Given the description of an element on the screen output the (x, y) to click on. 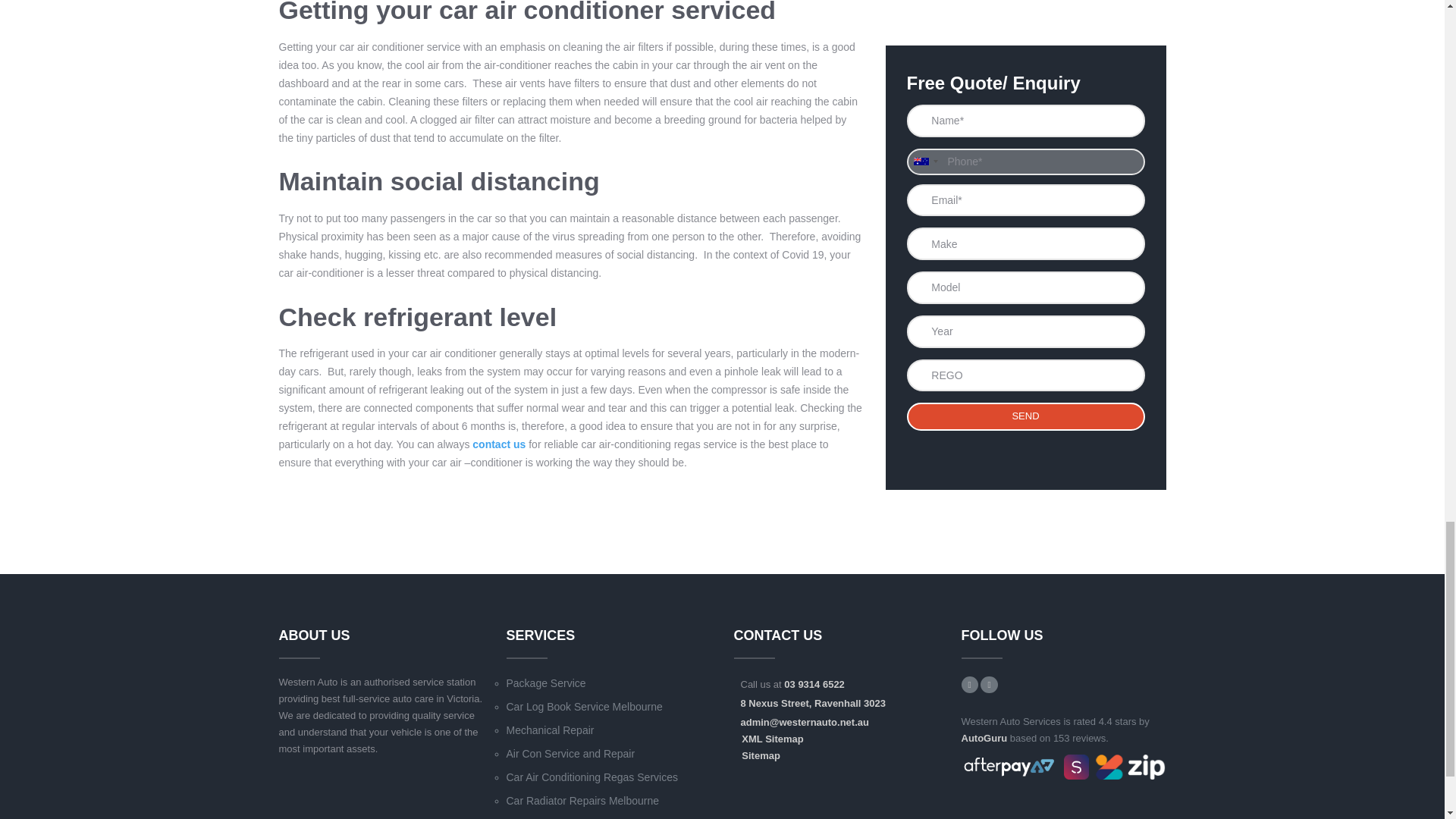
Customer Reviews From Melbourne (983, 737)
